Given the description of an element on the screen output the (x, y) to click on. 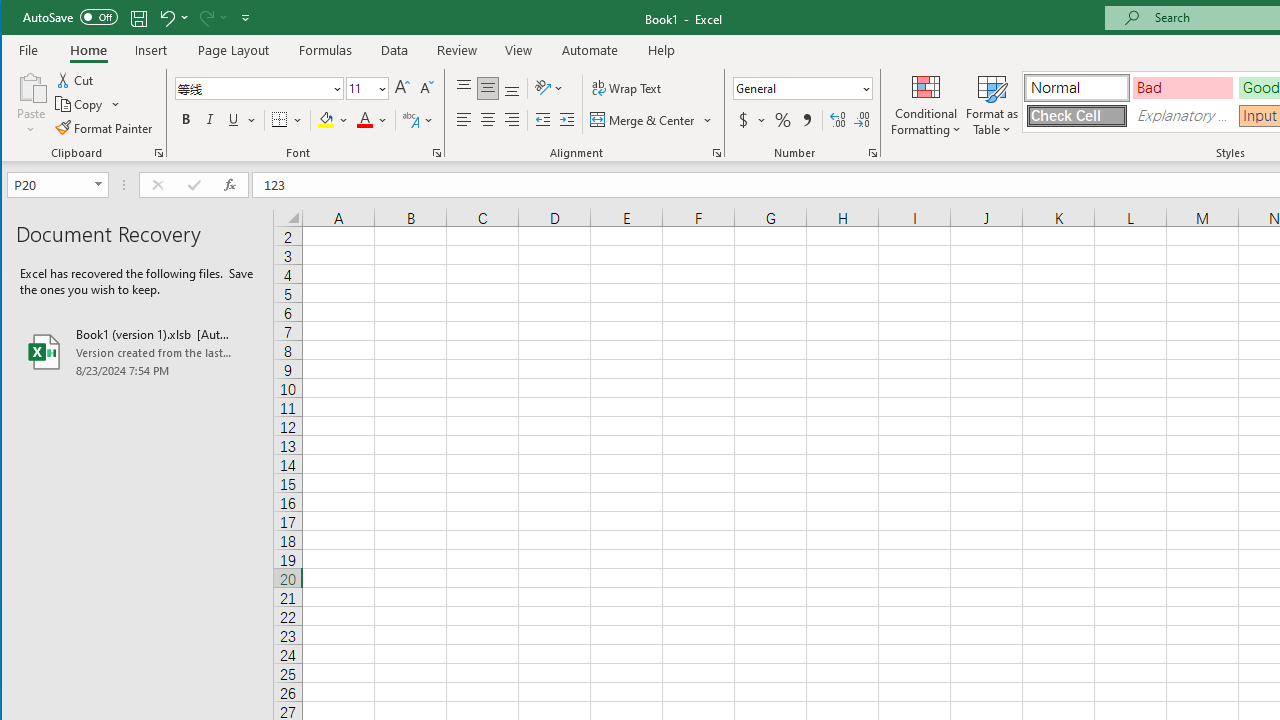
Borders (286, 119)
Merge & Center (651, 119)
Font Size (360, 88)
Fill Color (333, 119)
Show Phonetic Field (410, 119)
Format Cell Number (872, 152)
Underline (240, 119)
Decrease Indent (543, 119)
Format Painter (105, 127)
